Given the description of an element on the screen output the (x, y) to click on. 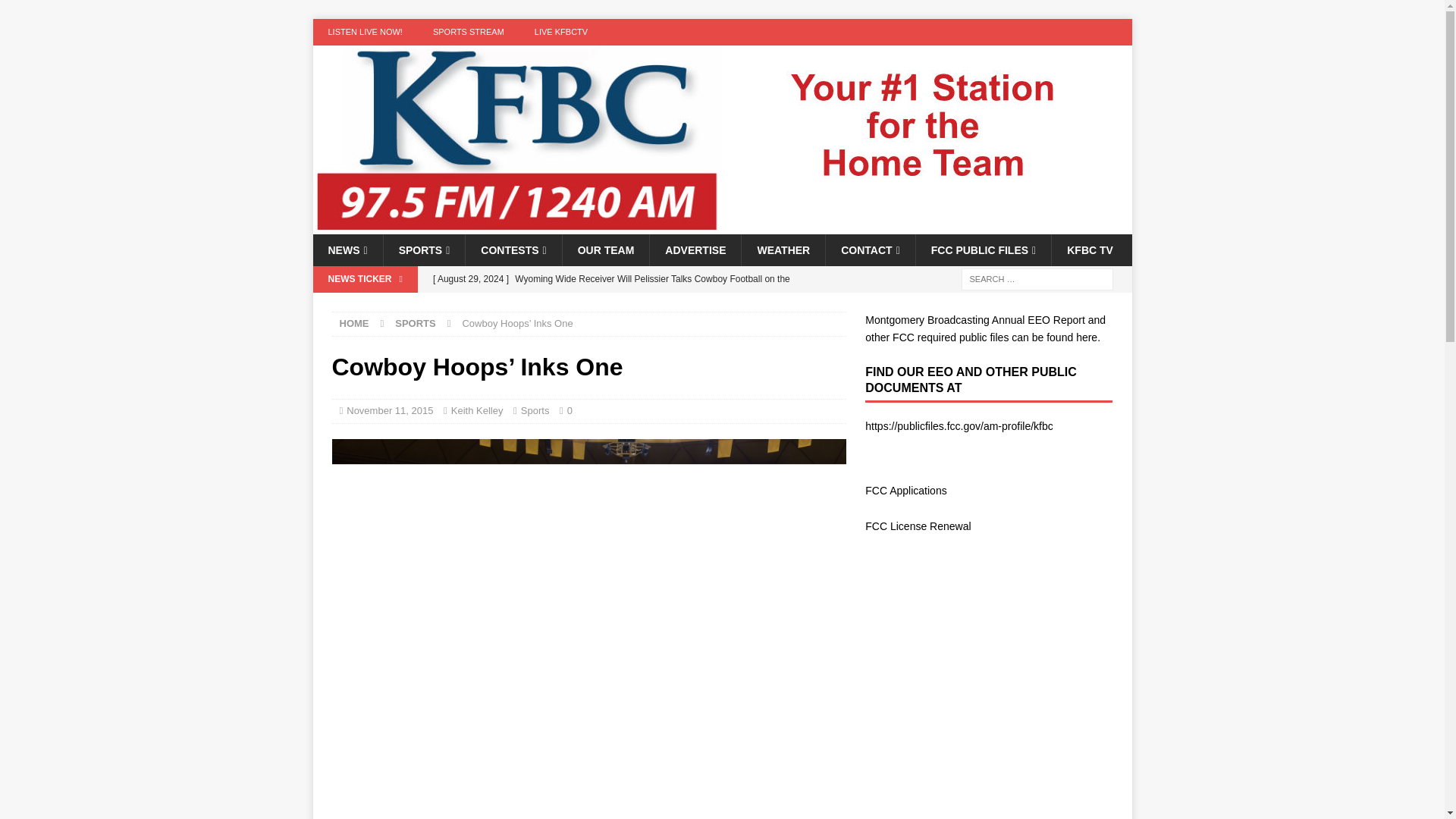
LIVE KFBCTV (560, 31)
SPORTS (423, 250)
Search (56, 11)
WEATHER (783, 250)
ADVERTISE (695, 250)
SPORTS (414, 323)
Keith Kelley (477, 410)
LISTEN LIVE NOW! (364, 31)
NEWS (347, 250)
CONTACT (870, 250)
